Given the description of an element on the screen output the (x, y) to click on. 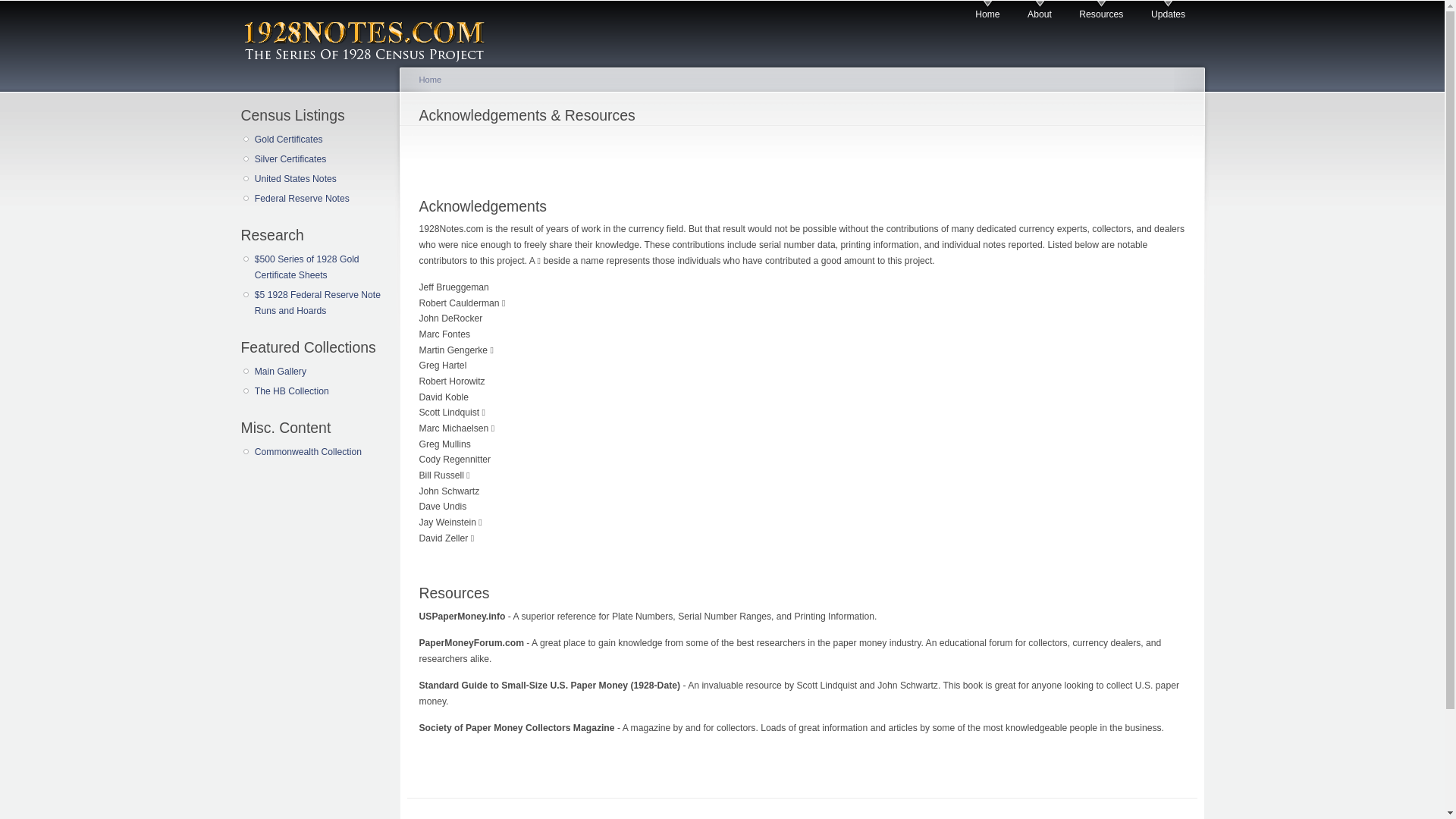
$5 1928 Federal Reserve Note Runs and Hoards Element type: text (319, 302)
  Element type: hover (371, 32)
The HB Collection Element type: text (319, 391)
Resources Element type: text (1101, 11)
$500 Series of 1928 Gold Certificate Sheets Element type: text (319, 266)
Silver Certificates Element type: text (319, 159)
Federal Reserve Notes Element type: text (319, 199)
About Element type: text (1039, 11)
Main Gallery Element type: text (319, 371)
Commonwealth Collection Element type: text (319, 452)
Skip to main content Element type: text (695, 2)
Gold Certificates Element type: text (319, 139)
United States Notes Element type: text (319, 179)
Home Element type: text (987, 11)
Updates Element type: text (1168, 11)
Home Element type: text (429, 79)
